Given the description of an element on the screen output the (x, y) to click on. 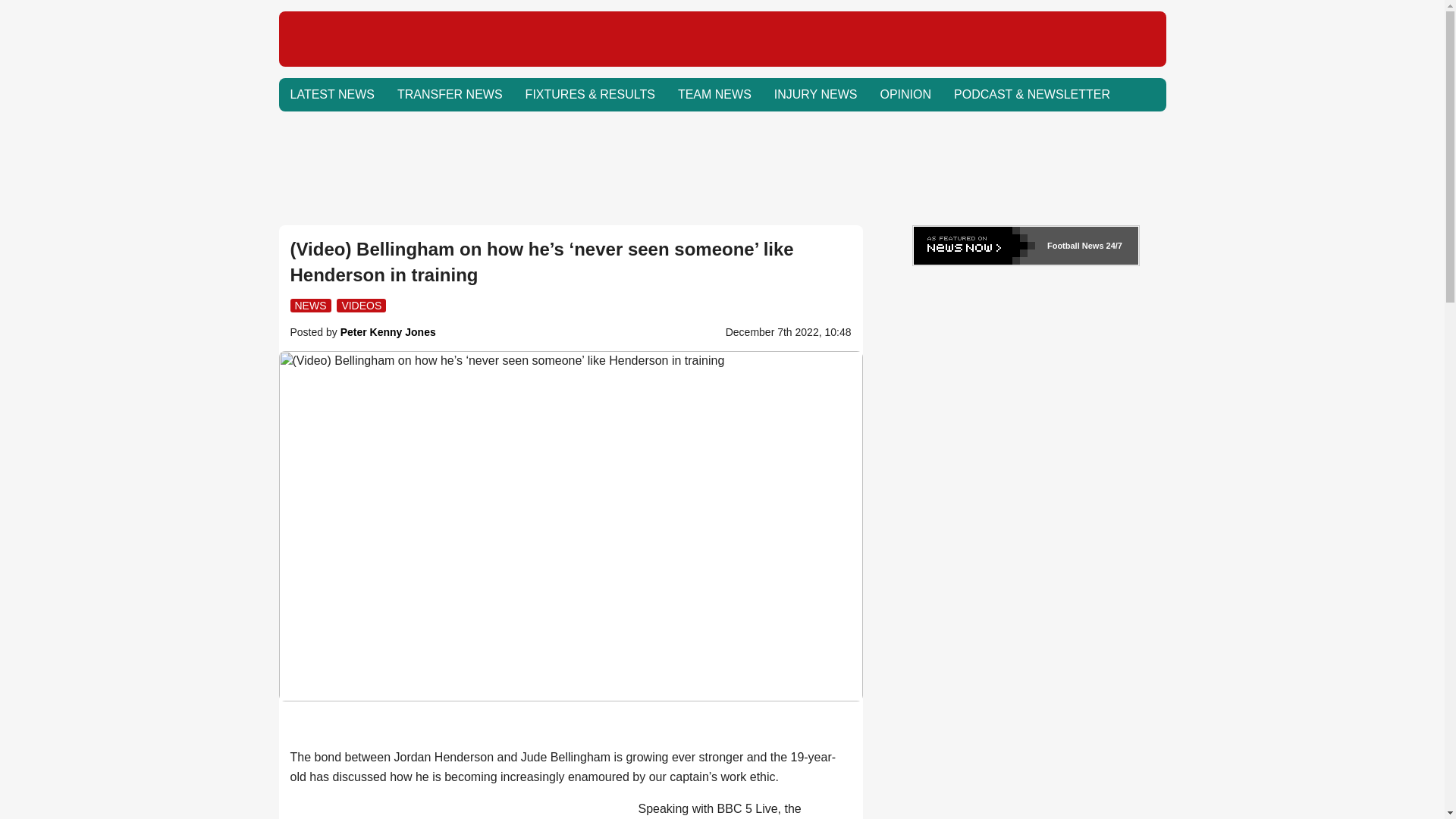
VIDEOS (360, 305)
Liverpool Injury News (815, 94)
Empire Of The Kop Podcast (1031, 94)
NEWS (309, 305)
Latest Liverpool News (332, 94)
TEAM NEWS (714, 94)
TRANSFER NEWS (449, 94)
Peter Kenny Jones (387, 331)
Liverpool Opinion Pieces (904, 94)
OPINION (904, 94)
